Given the description of an element on the screen output the (x, y) to click on. 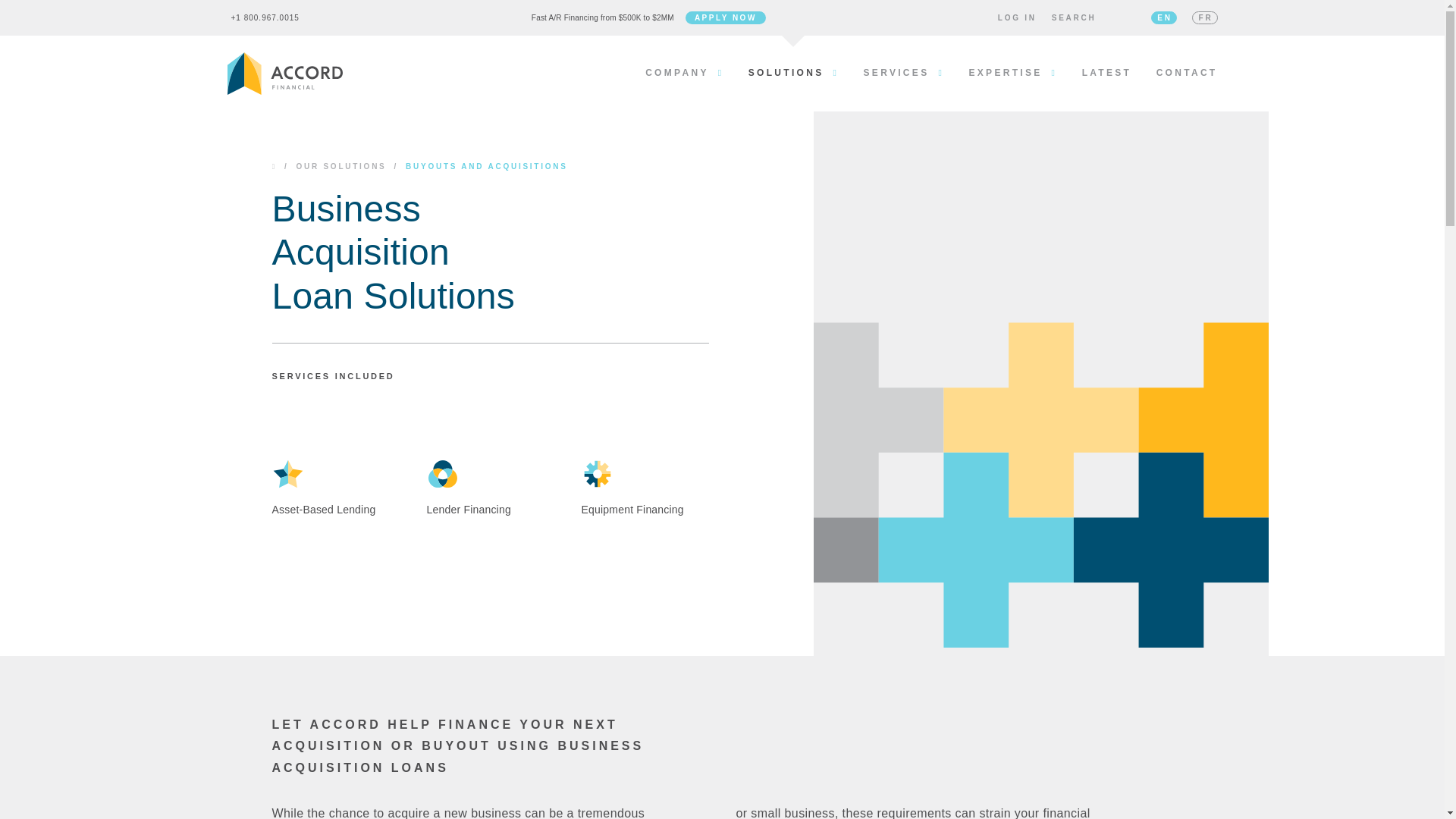
APPLY NOW (725, 18)
LOG IN (1016, 18)
Buyouts and Acquisitions (486, 166)
SERVICES (903, 73)
Our Solutions (340, 166)
FR (1204, 18)
COMPANY (684, 73)
EXPERTISE (1013, 73)
SOLUTIONS (793, 73)
SEARCH (1073, 18)
EN (1163, 18)
